Given the description of an element on the screen output the (x, y) to click on. 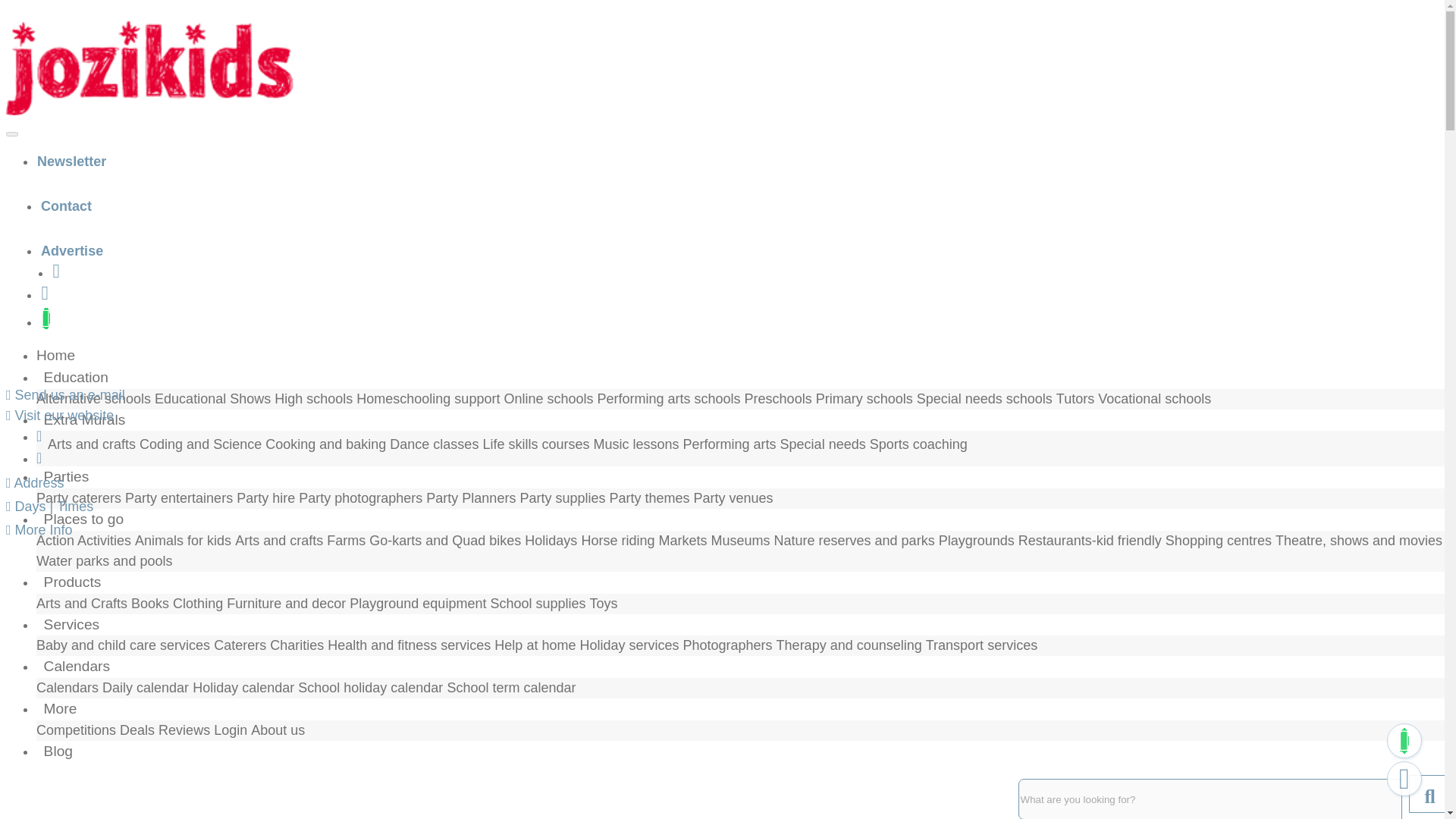
Special needs (824, 444)
Jozikids.co.za (149, 68)
Dance classes (434, 444)
Extra Murals (84, 418)
Preschools (778, 398)
Party themes (648, 498)
Contact (66, 206)
Vocational schools (1154, 398)
Newsletter (71, 161)
Send us an e-mail (65, 394)
Party hire (265, 498)
Educational Shows (212, 398)
Alternative schools (93, 398)
Arts and crafts (91, 444)
Home (59, 355)
